Given the description of an element on the screen output the (x, y) to click on. 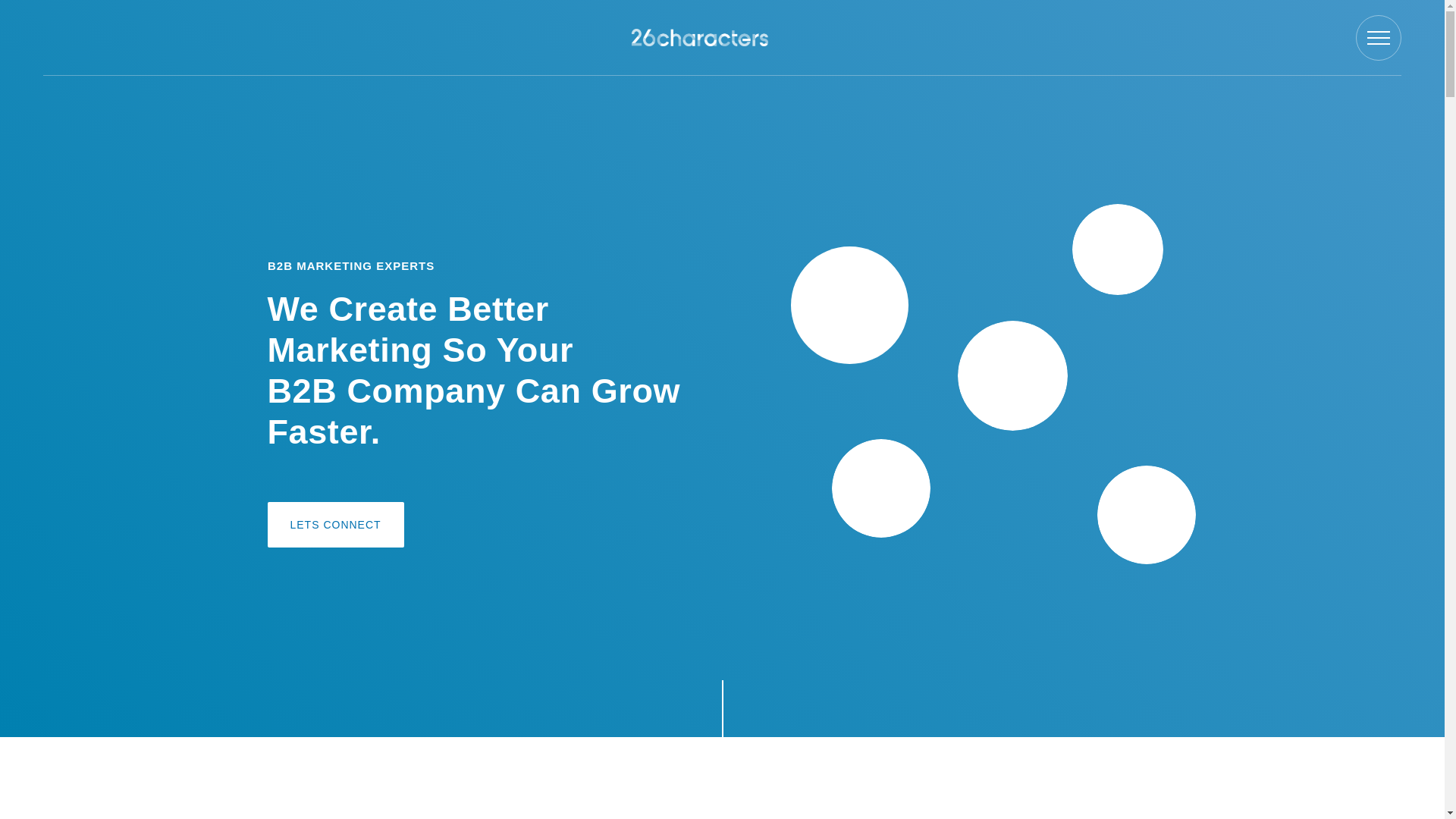
LETS CONNECT Element type: text (334, 524)
